Given the description of an element on the screen output the (x, y) to click on. 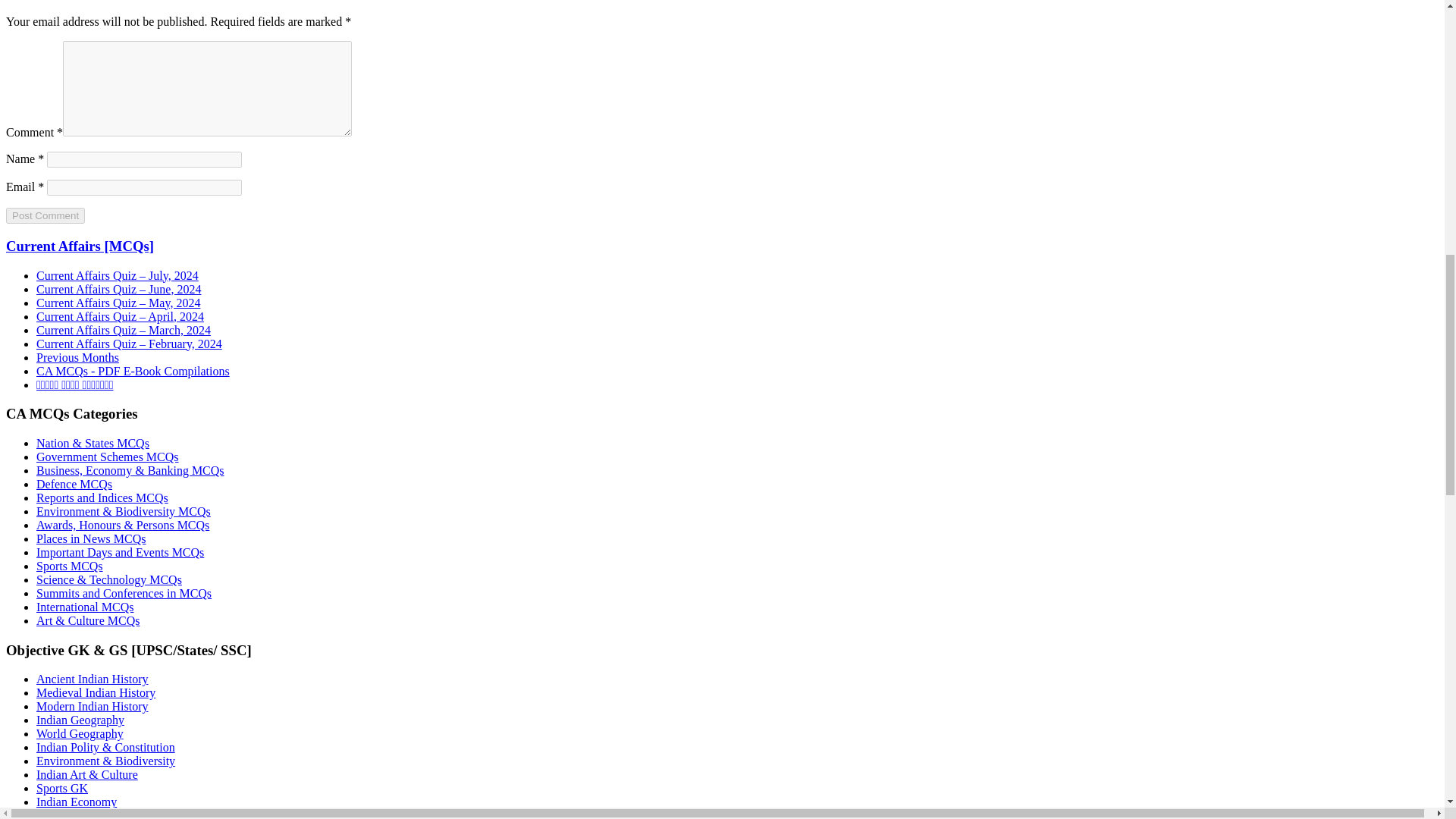
Defence MCQs (74, 483)
Post Comment (44, 215)
Previous Months (77, 357)
Government Schemes MCQs (107, 456)
Post Comment (44, 215)
Reports and Indices MCQs (102, 497)
CA MCQs - PDF E-Book Compilations (133, 370)
